Given the description of an element on the screen output the (x, y) to click on. 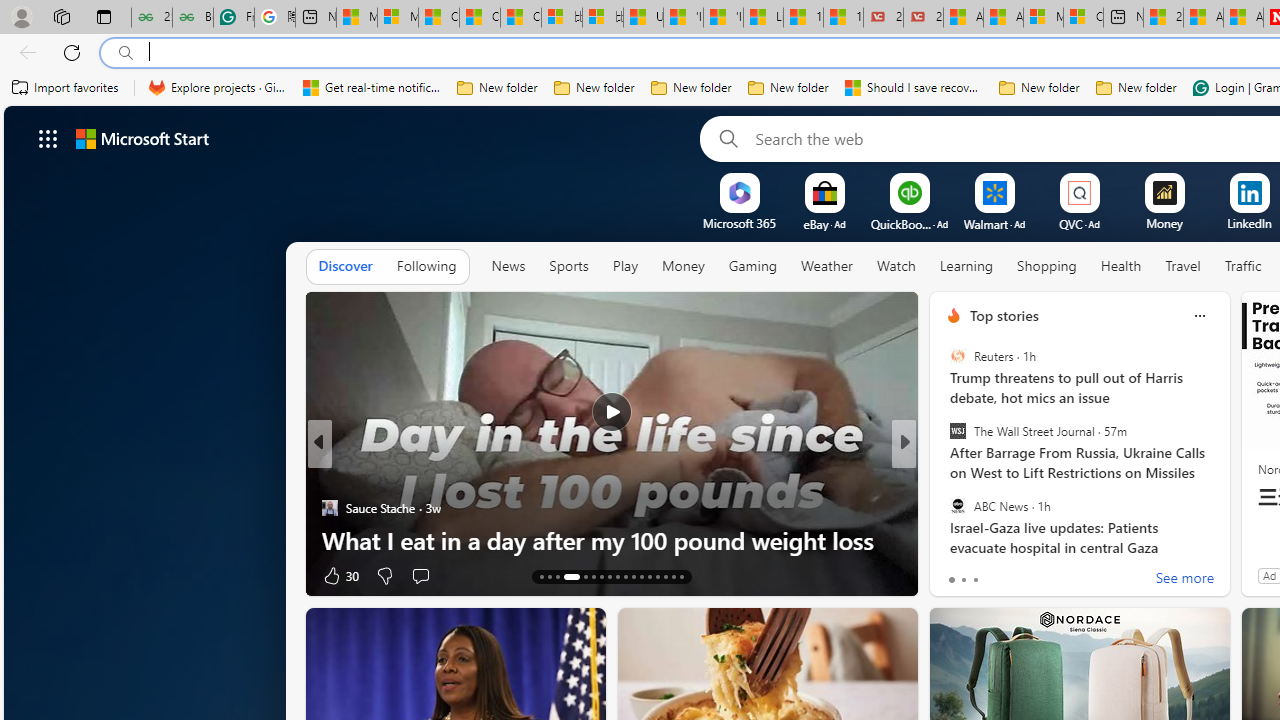
Traffic (1243, 265)
38 Like (956, 574)
HuffPost (944, 475)
21 Movies That Outdid the Books They Were Based On (923, 17)
AutomationID: tab-15 (556, 576)
Gaming (752, 267)
PC World (944, 475)
AutomationID: tab-27 (664, 576)
Watch (896, 267)
Should I save recovered Word documents? - Microsoft Support (913, 88)
AutomationID: tab-18 (592, 576)
AutomationID: tab-16 (571, 576)
View comments 9 Comment (1042, 575)
New folder (1136, 88)
AutomationID: tab-25 (649, 576)
